Given the description of an element on the screen output the (x, y) to click on. 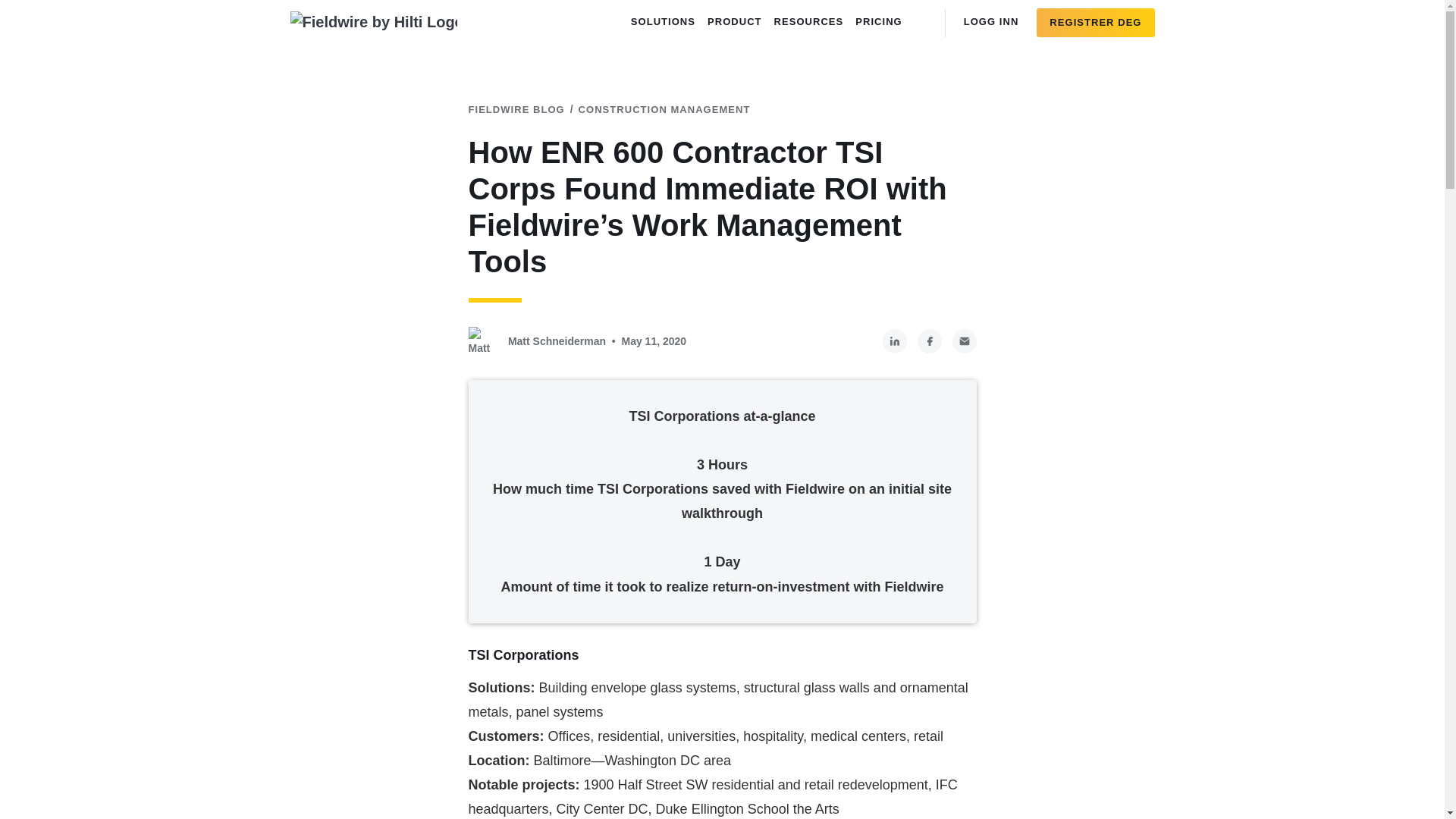
SOLUTIONS (662, 22)
PRICING (877, 22)
RESOURCES (809, 22)
PRODUCT (734, 22)
